Given the description of an element on the screen output the (x, y) to click on. 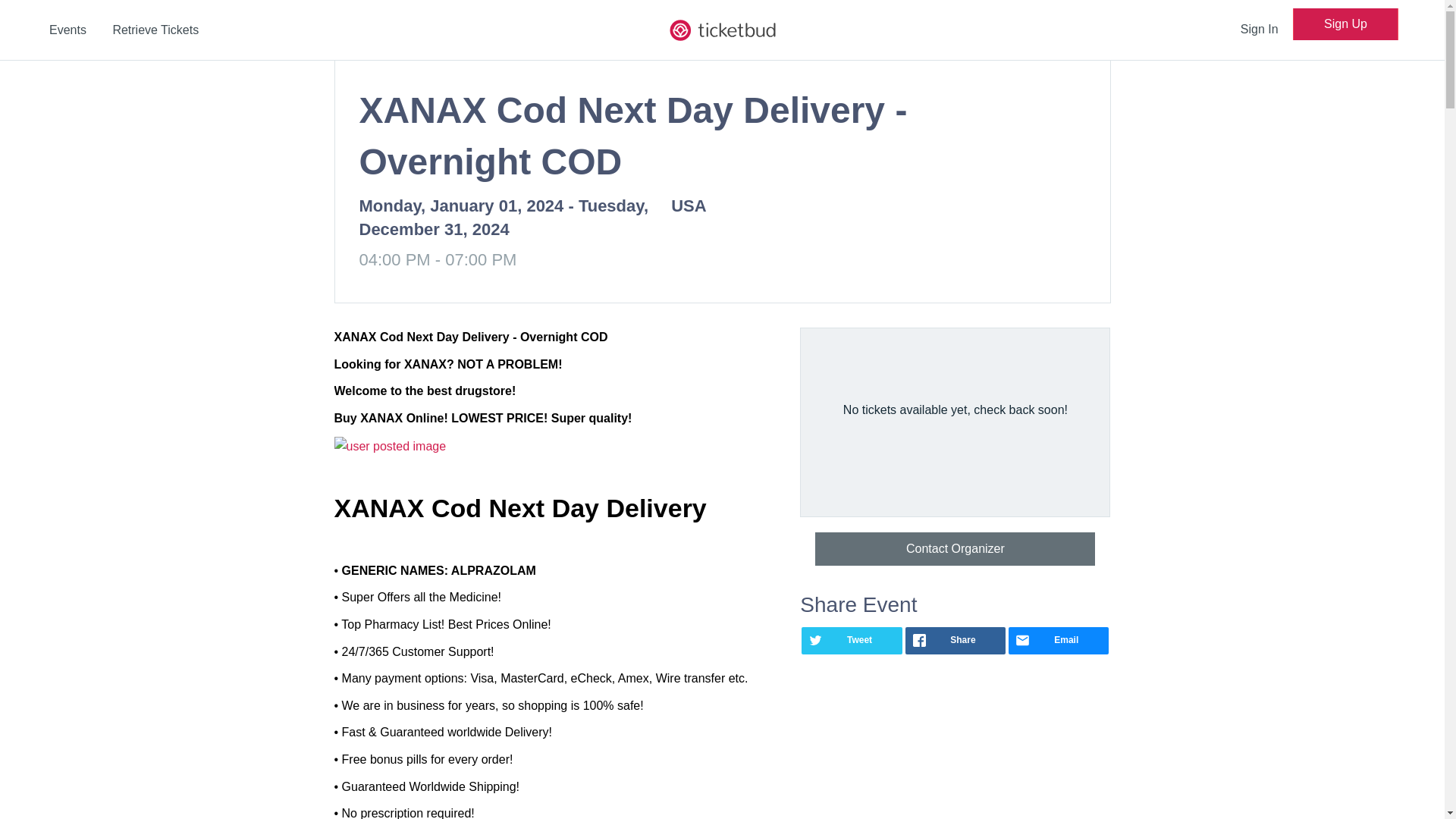
Sign Up (1344, 24)
Share (955, 640)
XANAX Cod Next Day Delivery (519, 507)
XANAX Cod Next Day Delivery - Overnight COD (470, 336)
Contact Organizer (954, 548)
Tweet (851, 640)
Sign In (1259, 29)
Events (67, 29)
Email (1058, 640)
Retrieve Tickets (154, 29)
